Given the description of an element on the screen output the (x, y) to click on. 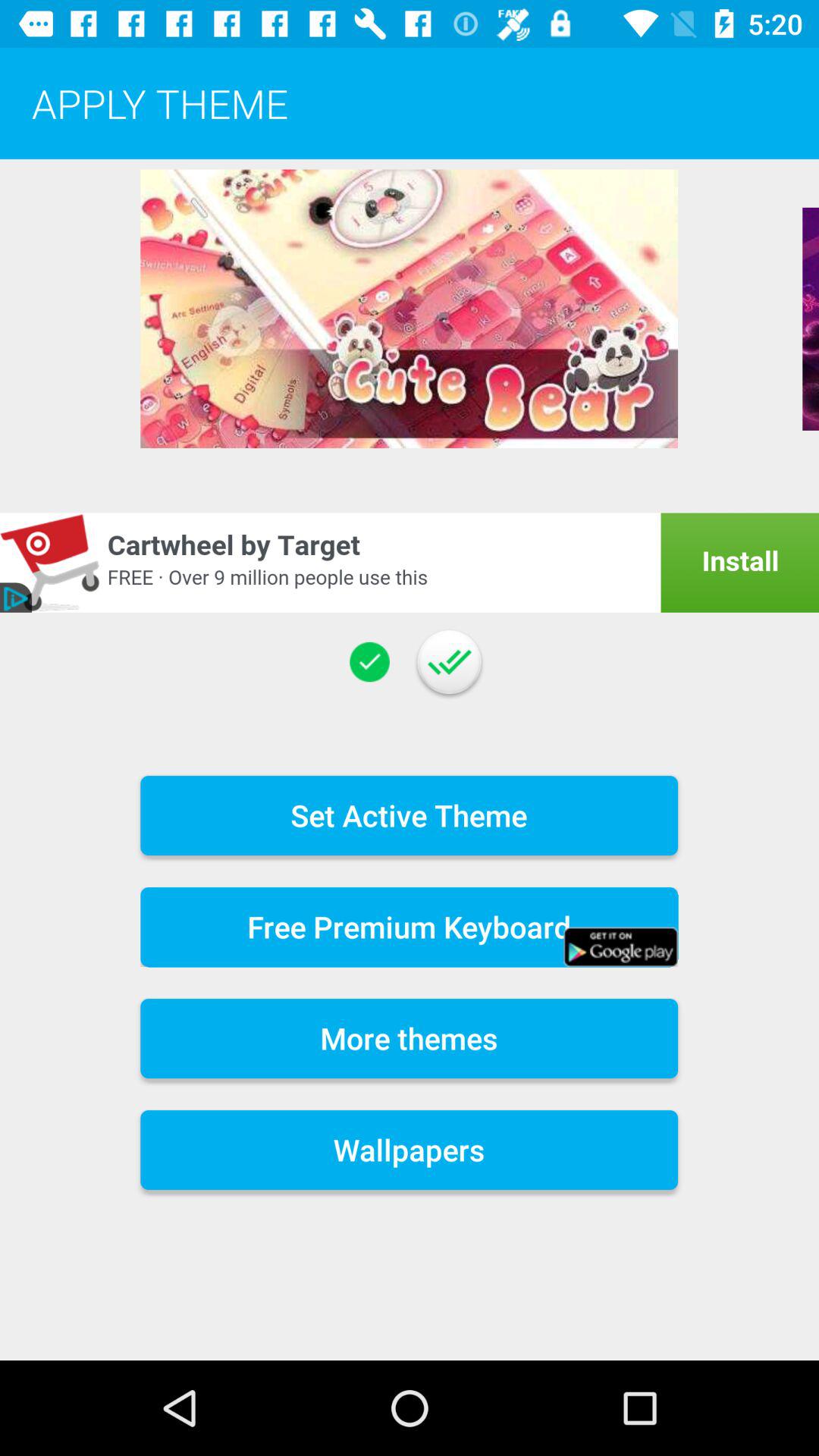
turn off the icon above the wallpapers (408, 1038)
